Given the description of an element on the screen output the (x, y) to click on. 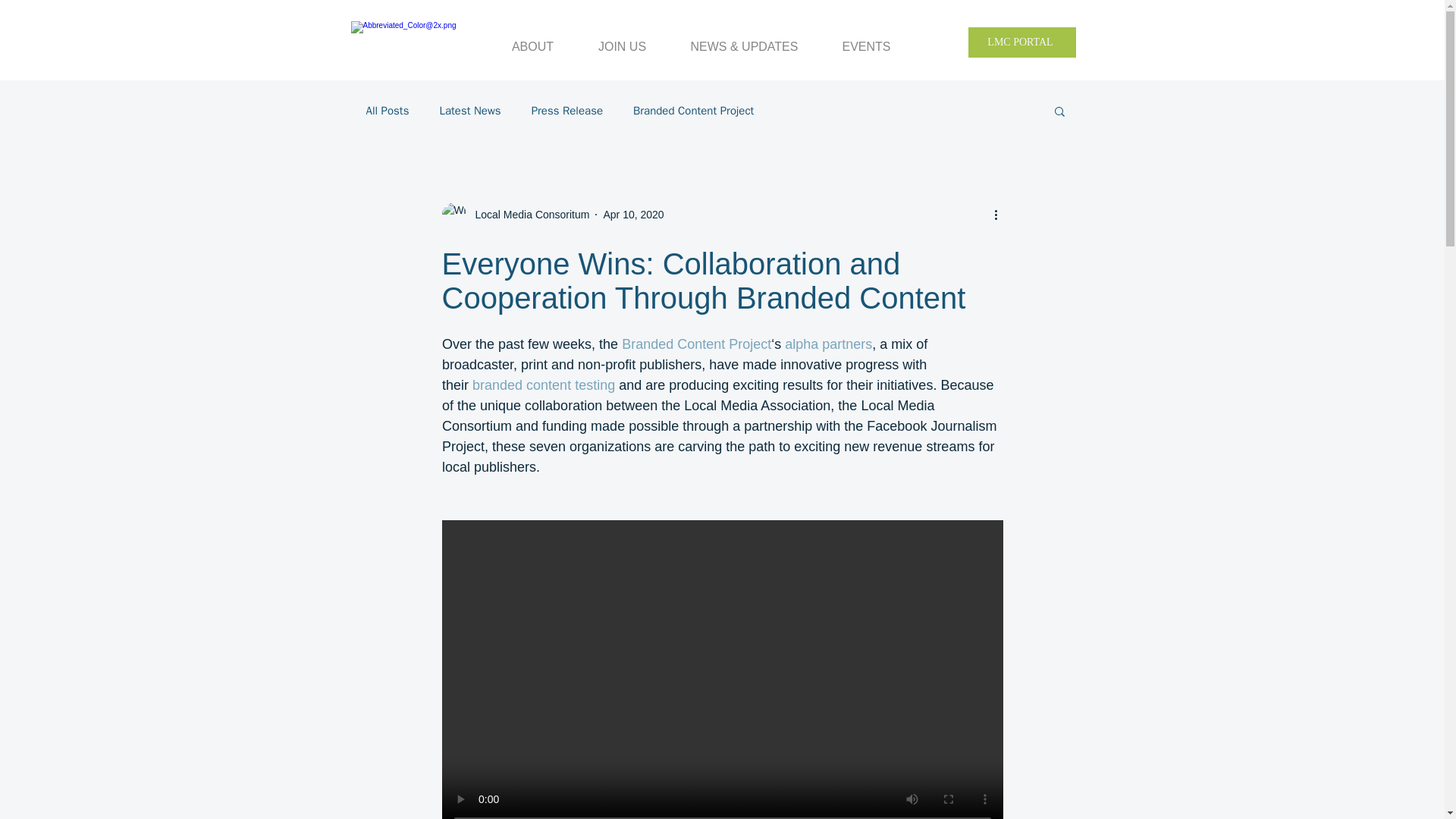
Local Media Consoritum (527, 213)
LMC PORTAL (1021, 42)
branded content testing (542, 385)
alpha partners (828, 344)
Branded Content Project (696, 344)
Press Release (566, 110)
Branded Content Project (693, 110)
Local Media Consoritum (515, 214)
Latest News (469, 110)
Apr 10, 2020 (632, 214)
